Given the description of an element on the screen output the (x, y) to click on. 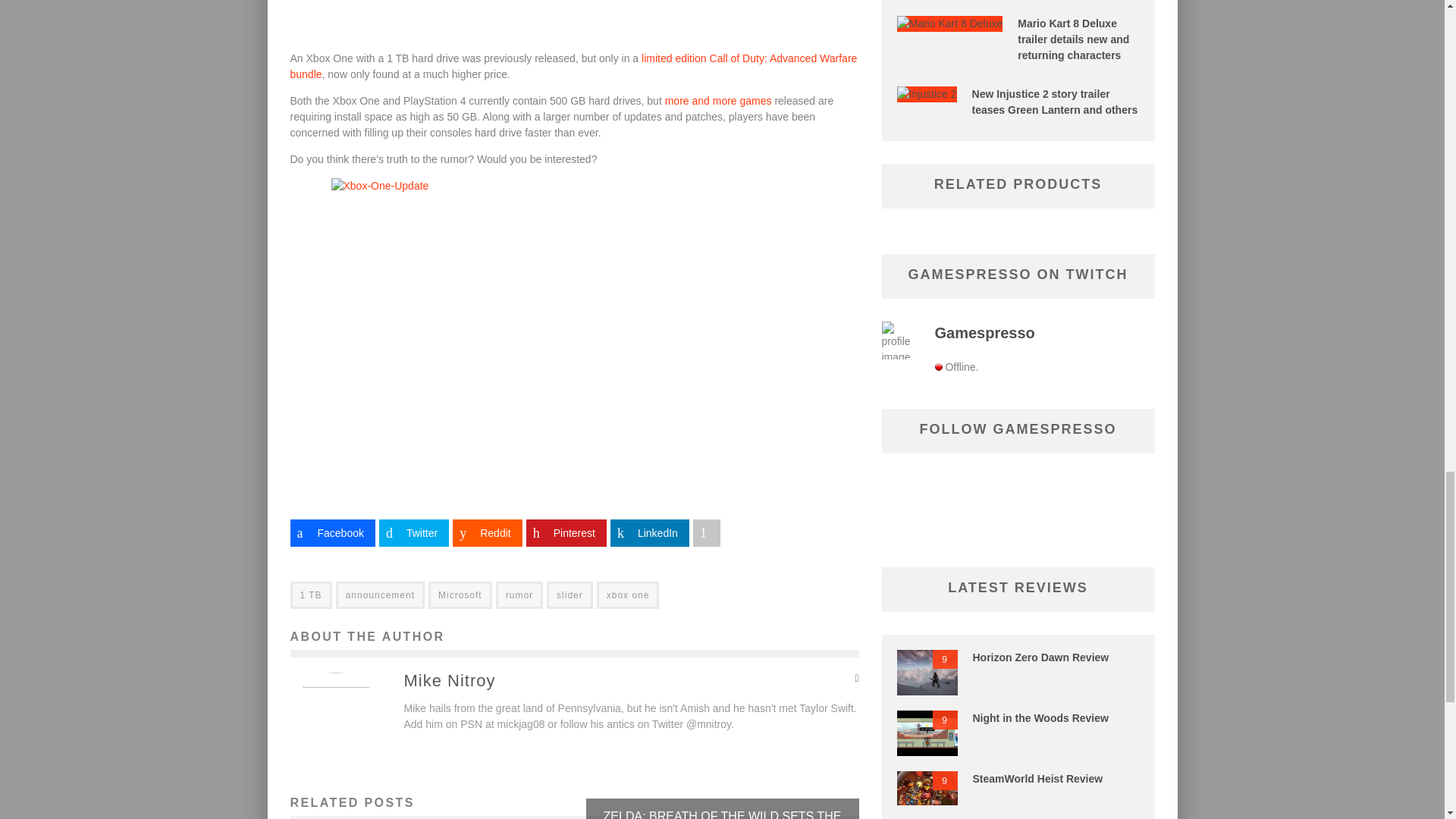
Share on LinkedIn (649, 533)
Share on Twitter (413, 533)
Share on More Button (706, 533)
Share on Facebook (331, 533)
Share on Reddit (486, 533)
Share on Pinterest (566, 533)
